Given the description of an element on the screen output the (x, y) to click on. 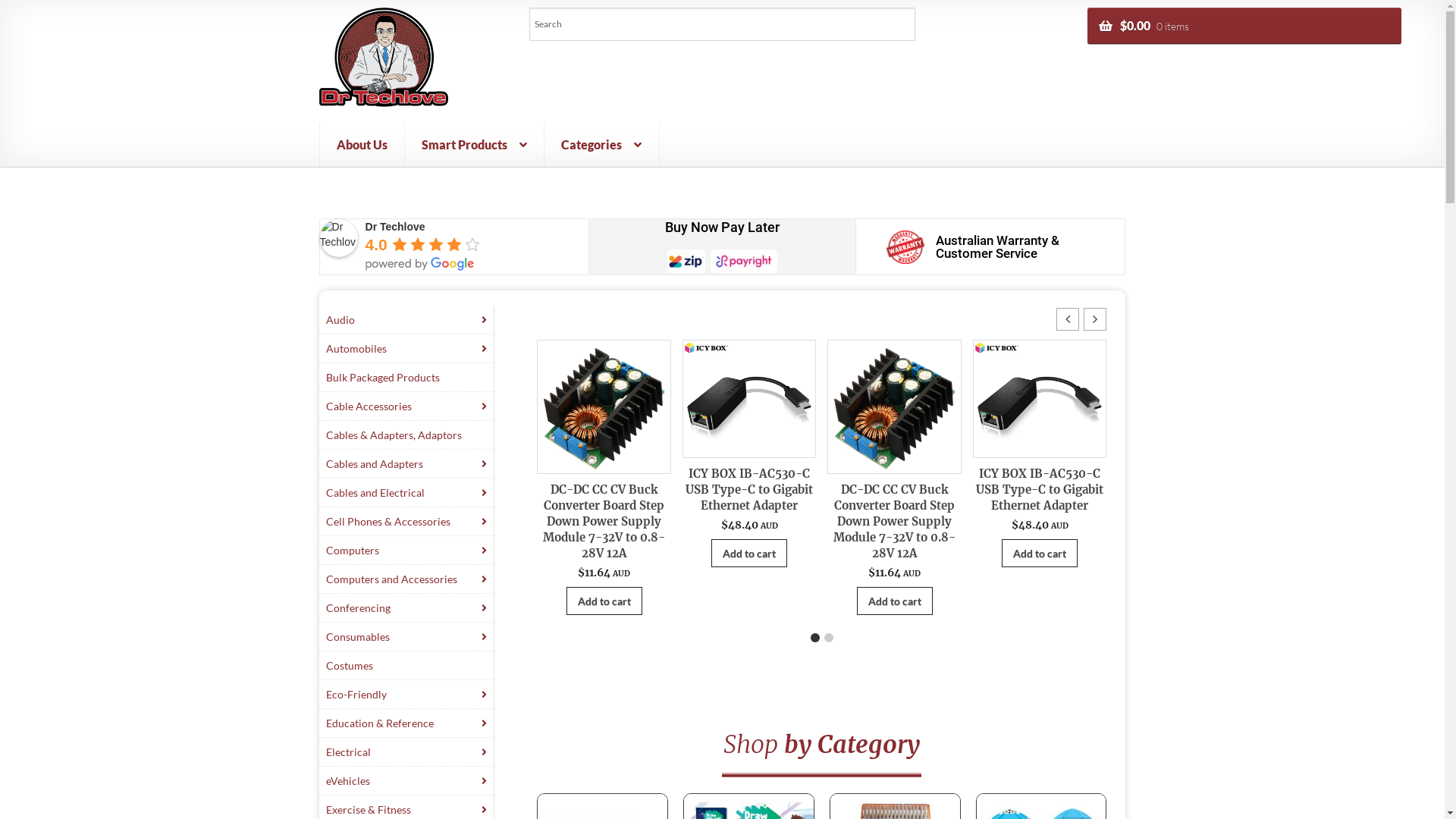
Home 4 Element type: hover (722, 261)
Cables and Adapters     Element type: text (406, 463)
Costumes     Element type: text (406, 665)
Dr Techlove Element type: text (395, 226)
Education & Reference     Element type: text (406, 723)
Categories Element type: text (601, 144)
Cell Phones & Accessories     Element type: text (406, 521)
powered by Google Element type: hover (419, 263)
eVehicles     Element type: text (406, 780)
About Us Element type: text (361, 144)
Bulk Packaged Products     Element type: text (406, 377)
Add to cart Element type: text (749, 553)
ICY BOX IB-AC530-C USB Type-C to Gigabit Ethernet Adapter 2 Element type: hover (1039, 398)
Cables & Adapters, Adaptors     Element type: text (406, 434)
Home 5 Element type: hover (904, 246)
Eco-Friendly     Element type: text (406, 694)
Conferencing     Element type: text (406, 607)
Consumables     Element type: text (406, 636)
Electrical     Element type: text (406, 751)
Automobiles     Element type: text (406, 348)
Smart Products Element type: text (474, 144)
$0.00 0 items Element type: text (1244, 25)
ICY BOX IB-AC530-C USB Type-C to Gigabit Ethernet Adapter Element type: text (1039, 489)
ICY BOX IB-AC530-C USB Type-C to Gigabit Ethernet Adapter Element type: text (748, 489)
ICY BOX IB-AC530-C USB Type-C to Gigabit Ethernet Adapter 2 Element type: hover (749, 398)
Cables and Electrical     Element type: text (406, 492)
Add to cart Element type: text (604, 600)
Computers     Element type: text (406, 550)
Dr Techlove Element type: hover (338, 238)
Add to cart Element type: text (1039, 553)
Audio     Element type: text (406, 319)
Computers and Accessories     Element type: text (406, 578)
Cable Accessories     Element type: text (406, 406)
Add to cart Element type: text (894, 600)
